Given the description of an element on the screen output the (x, y) to click on. 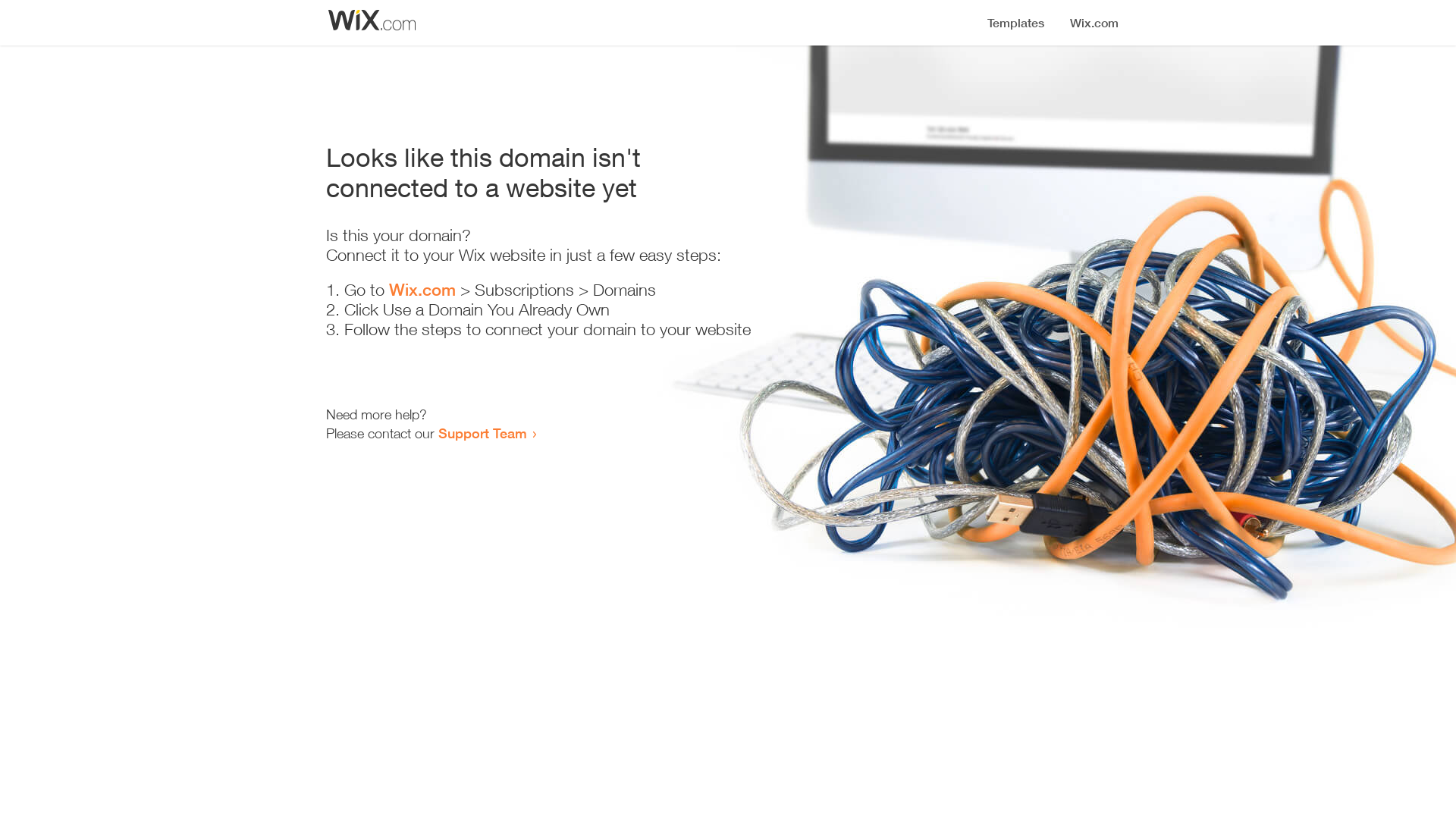
Wix.com Element type: text (422, 289)
Support Team Element type: text (482, 432)
